Given the description of an element on the screen output the (x, y) to click on. 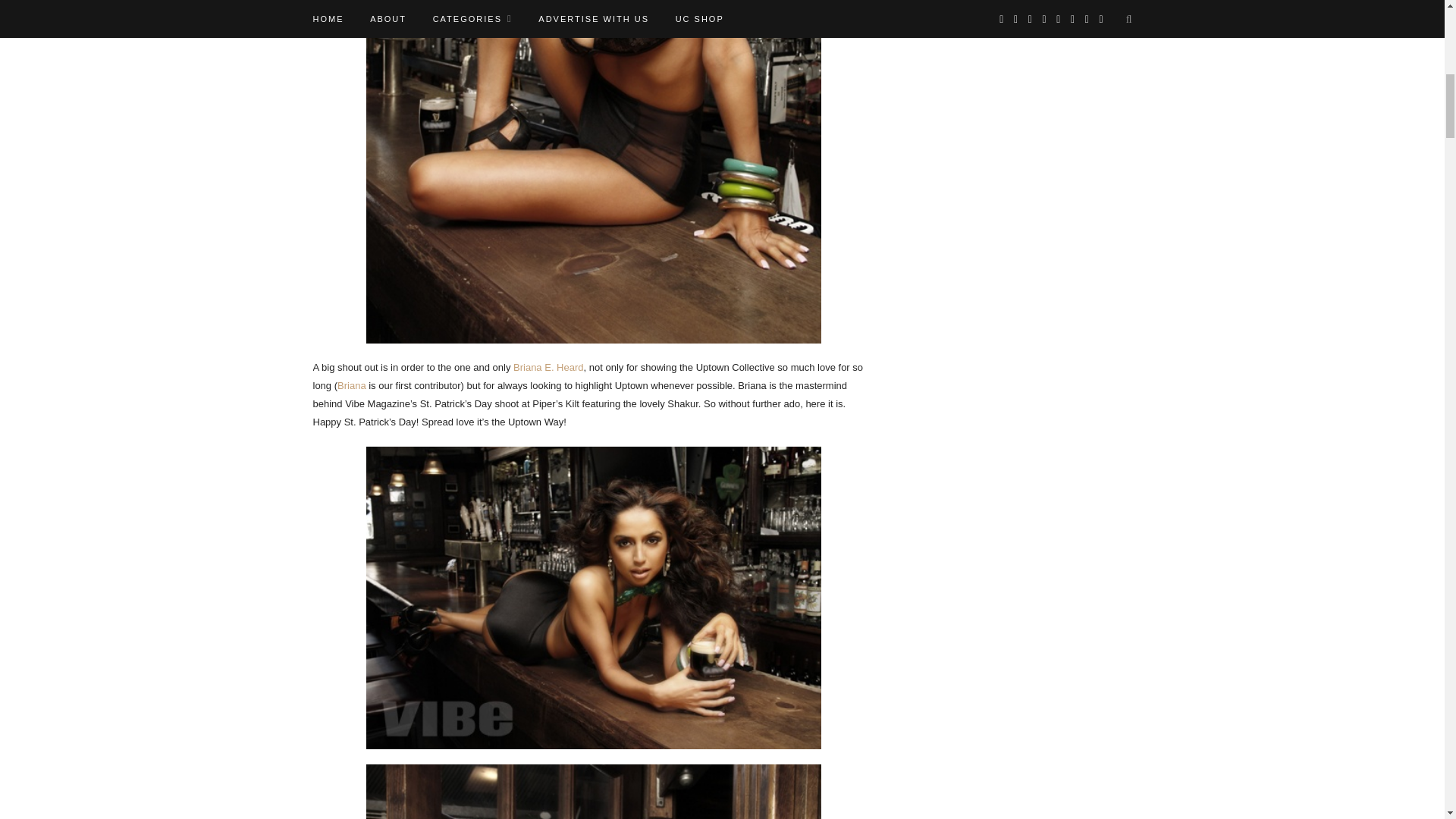
Briana E. Heard (548, 367)
Briana (351, 385)
Vibe18 (593, 791)
